Given the description of an element on the screen output the (x, y) to click on. 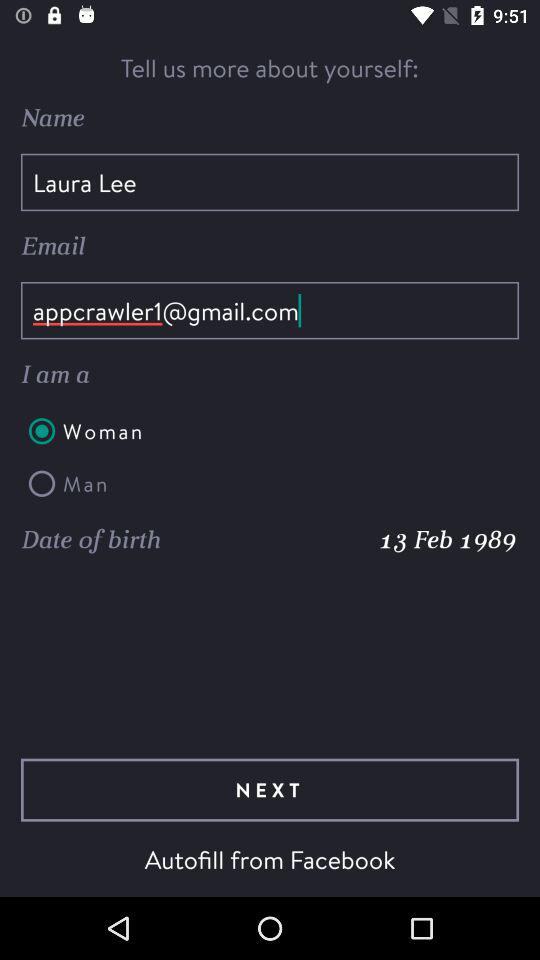
scroll until the appcrawler1@gmail.com icon (269, 310)
